Given the description of an element on the screen output the (x, y) to click on. 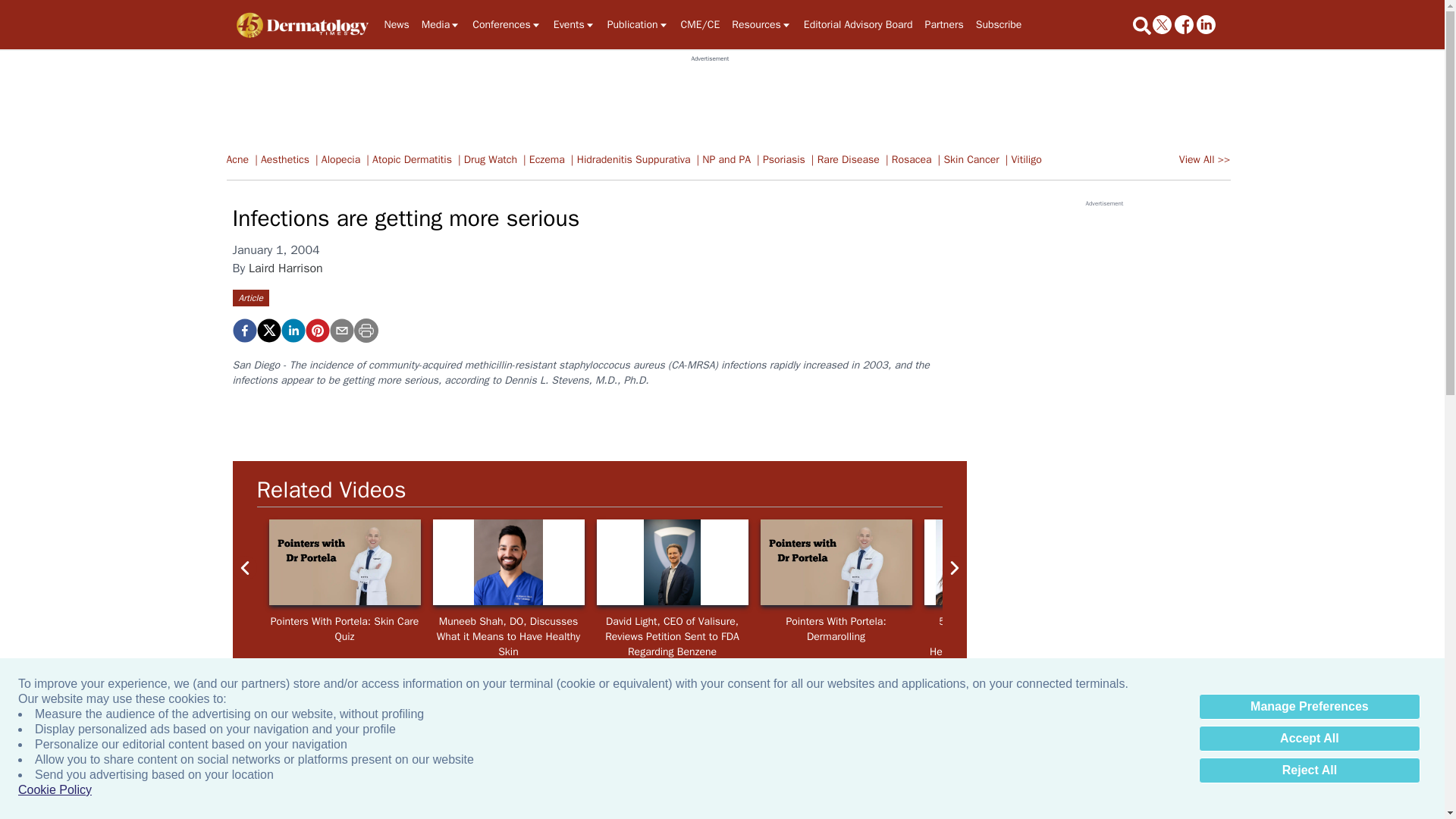
News (396, 23)
3rd party ad content (709, 97)
Pointers With Portela: Skin Care Quiz  (343, 562)
Infections are getting more serious (316, 330)
Reject All (1309, 769)
Manage Preferences (1309, 706)
Accept All (1309, 738)
Cookie Policy (54, 789)
Infections are getting more serious (243, 330)
Editorial Advisory Board (857, 23)
